Given the description of an element on the screen output the (x, y) to click on. 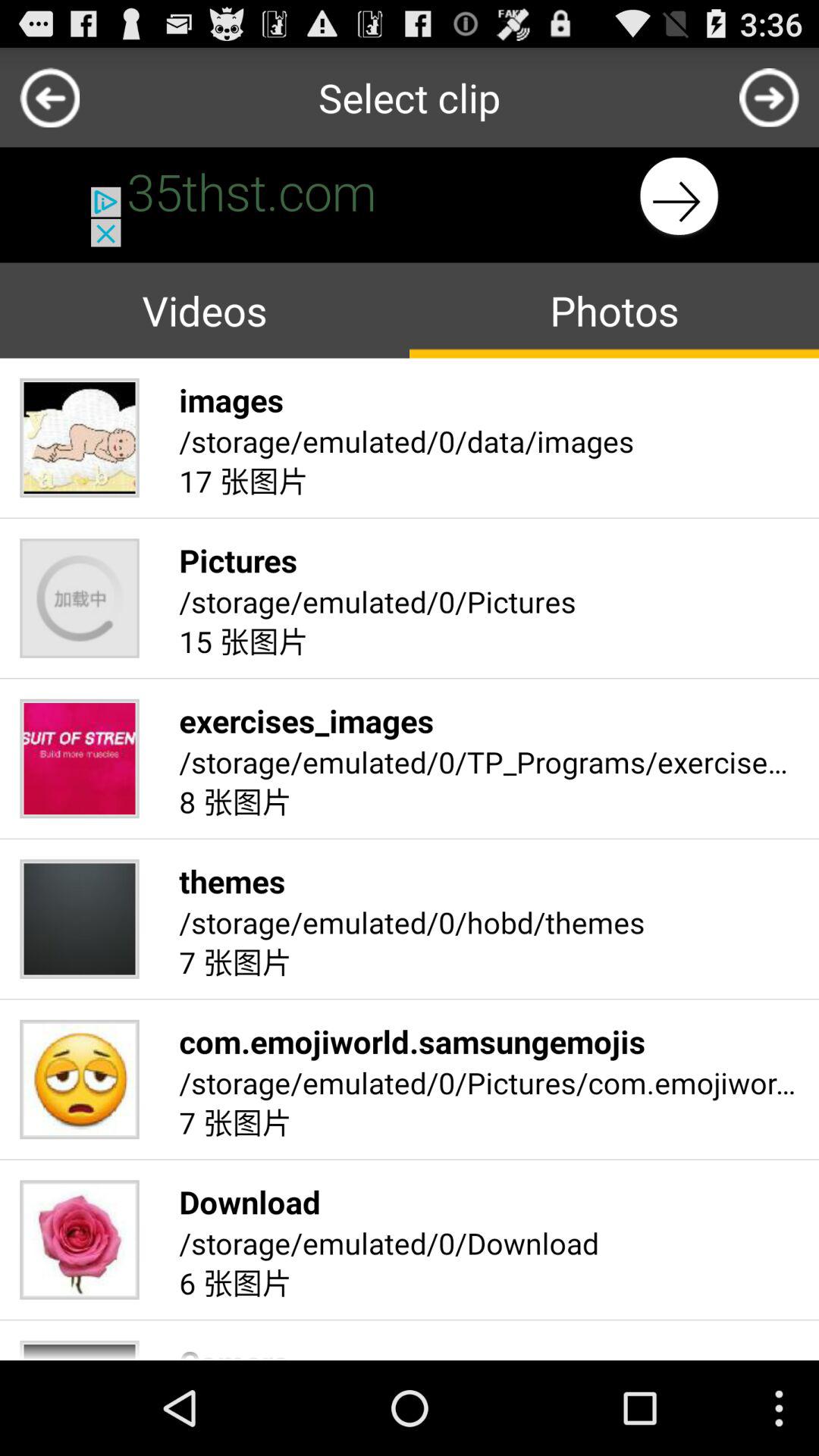
shows the next option (769, 97)
